Given the description of an element on the screen output the (x, y) to click on. 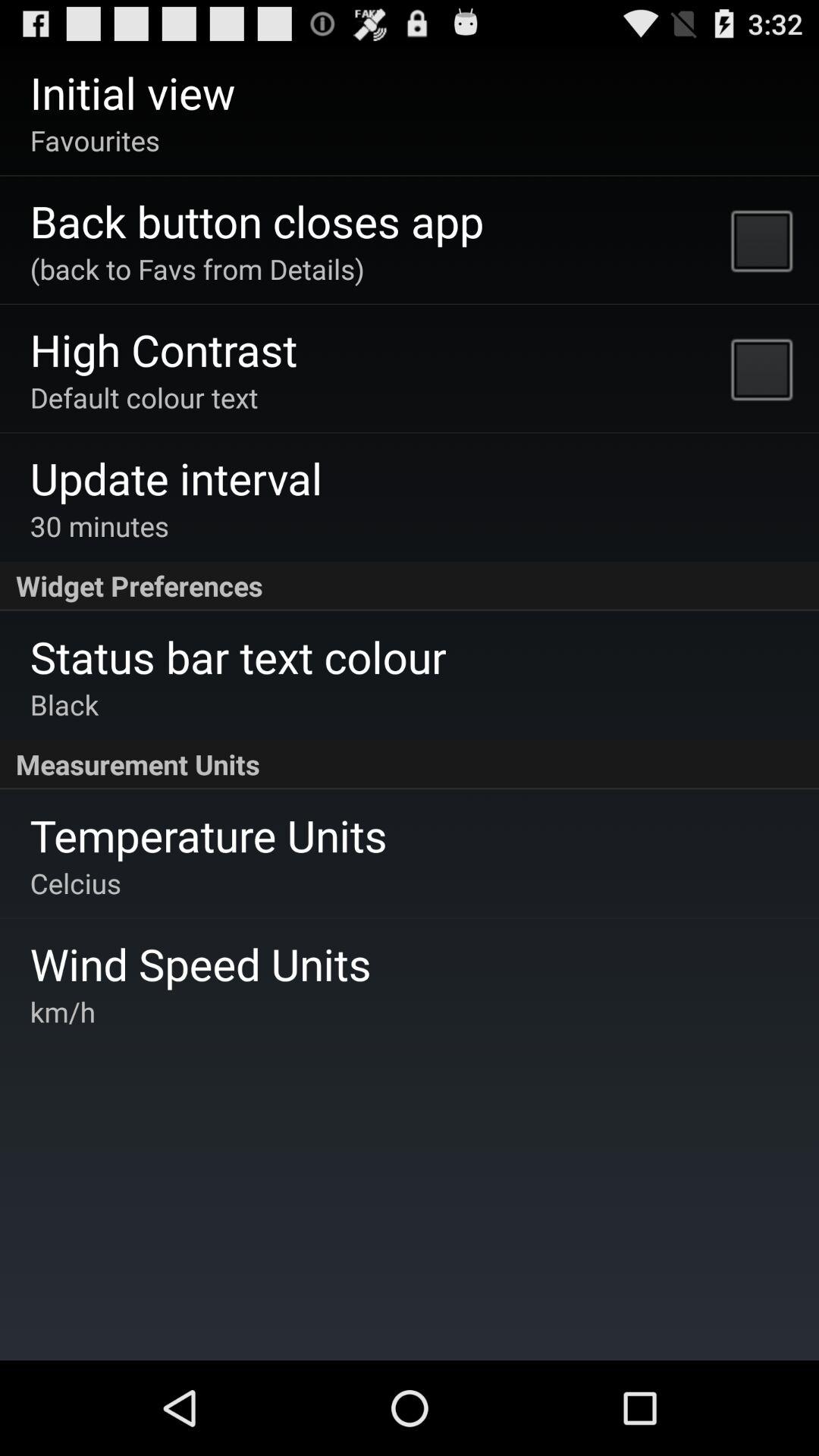
flip until the widget preferences item (409, 585)
